Given the description of an element on the screen output the (x, y) to click on. 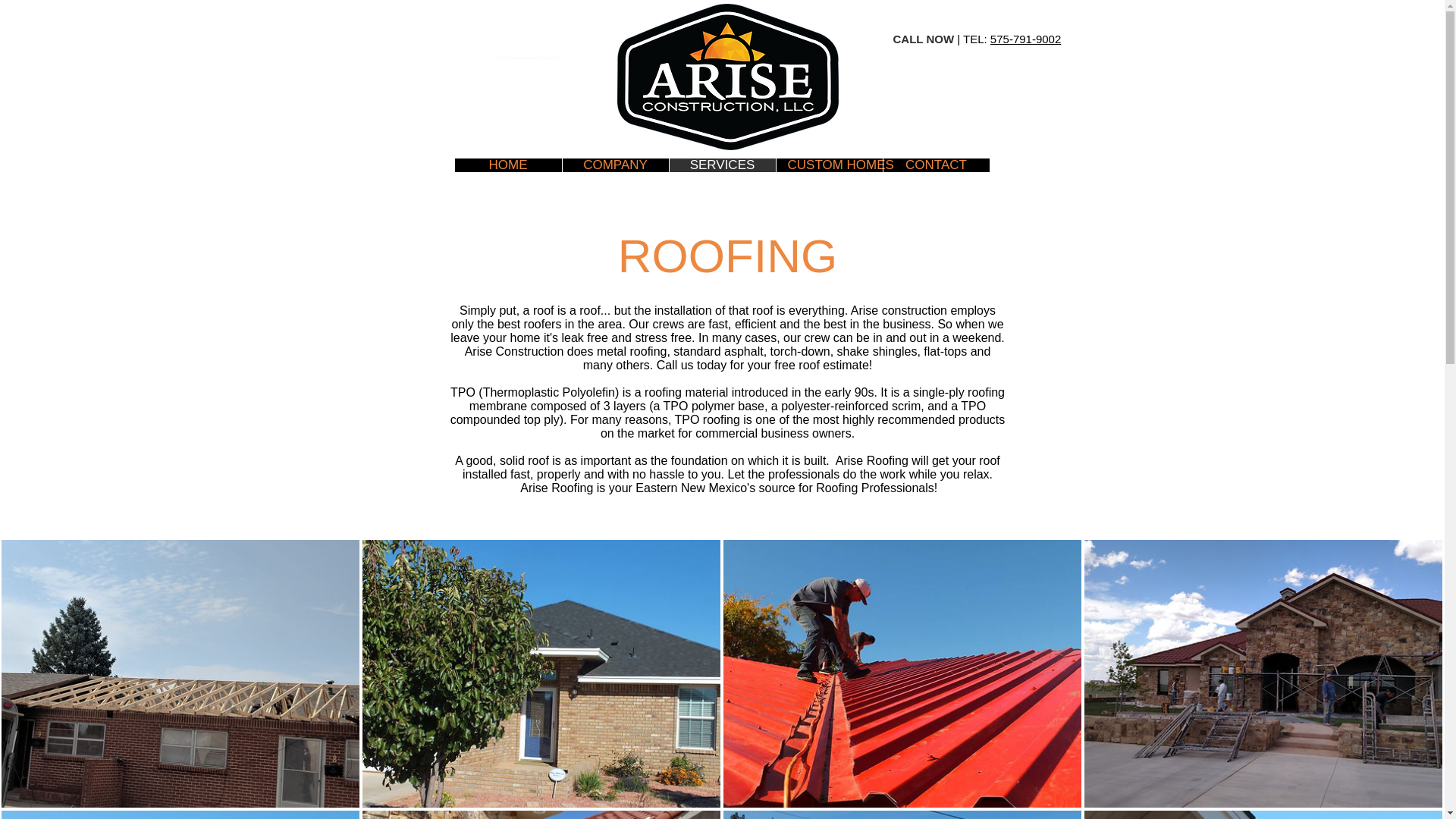
COMPANY (614, 164)
CUSTOM HOMES (828, 164)
SERVICES (722, 164)
Embedded Content (714, 44)
HOME (508, 164)
575-791-9002 (1025, 38)
CONTACT (936, 164)
Arise Construction Clovis, NM (527, 57)
